Given the description of an element on the screen output the (x, y) to click on. 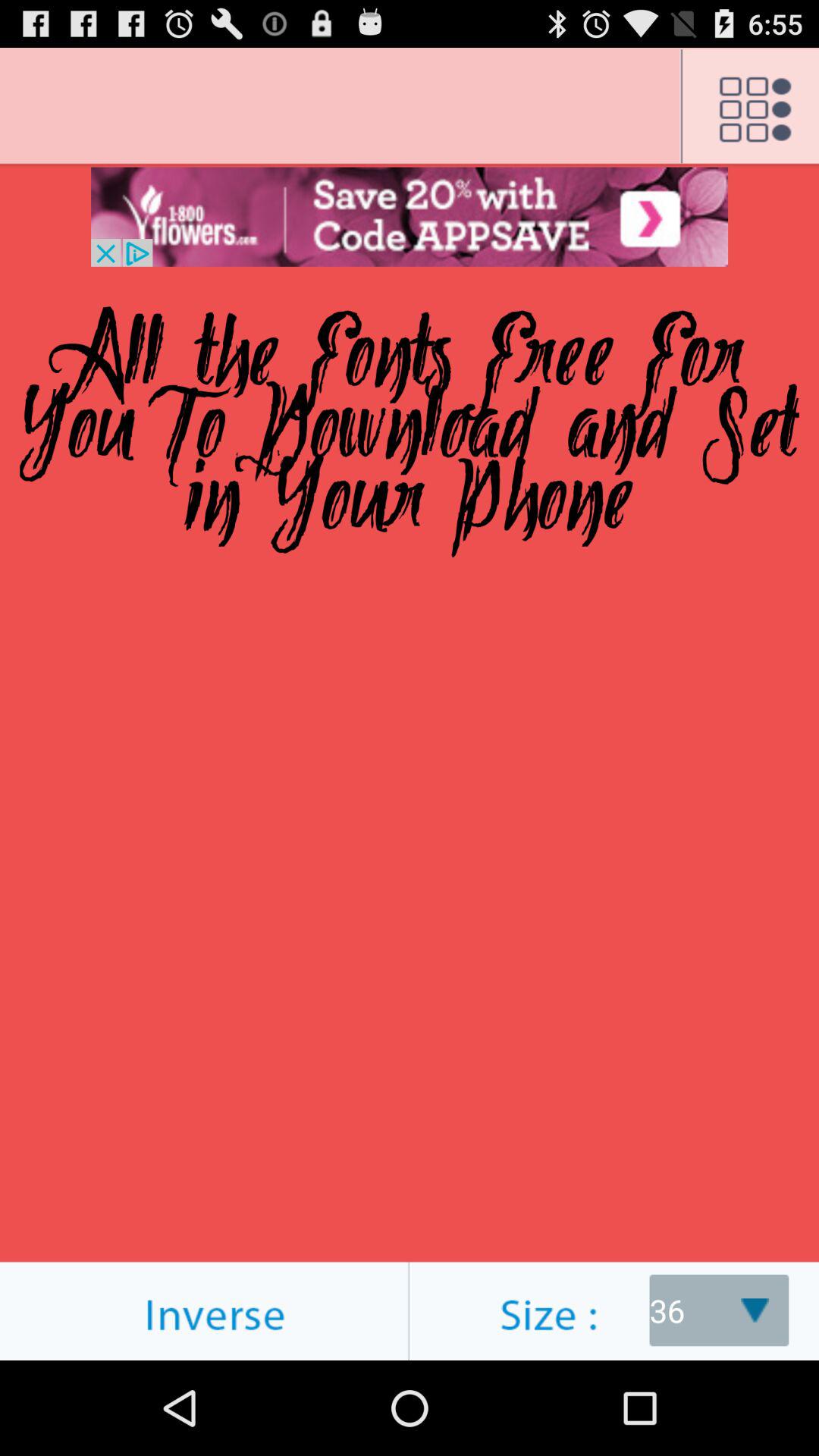
change text size (614, 1310)
